Given the description of an element on the screen output the (x, y) to click on. 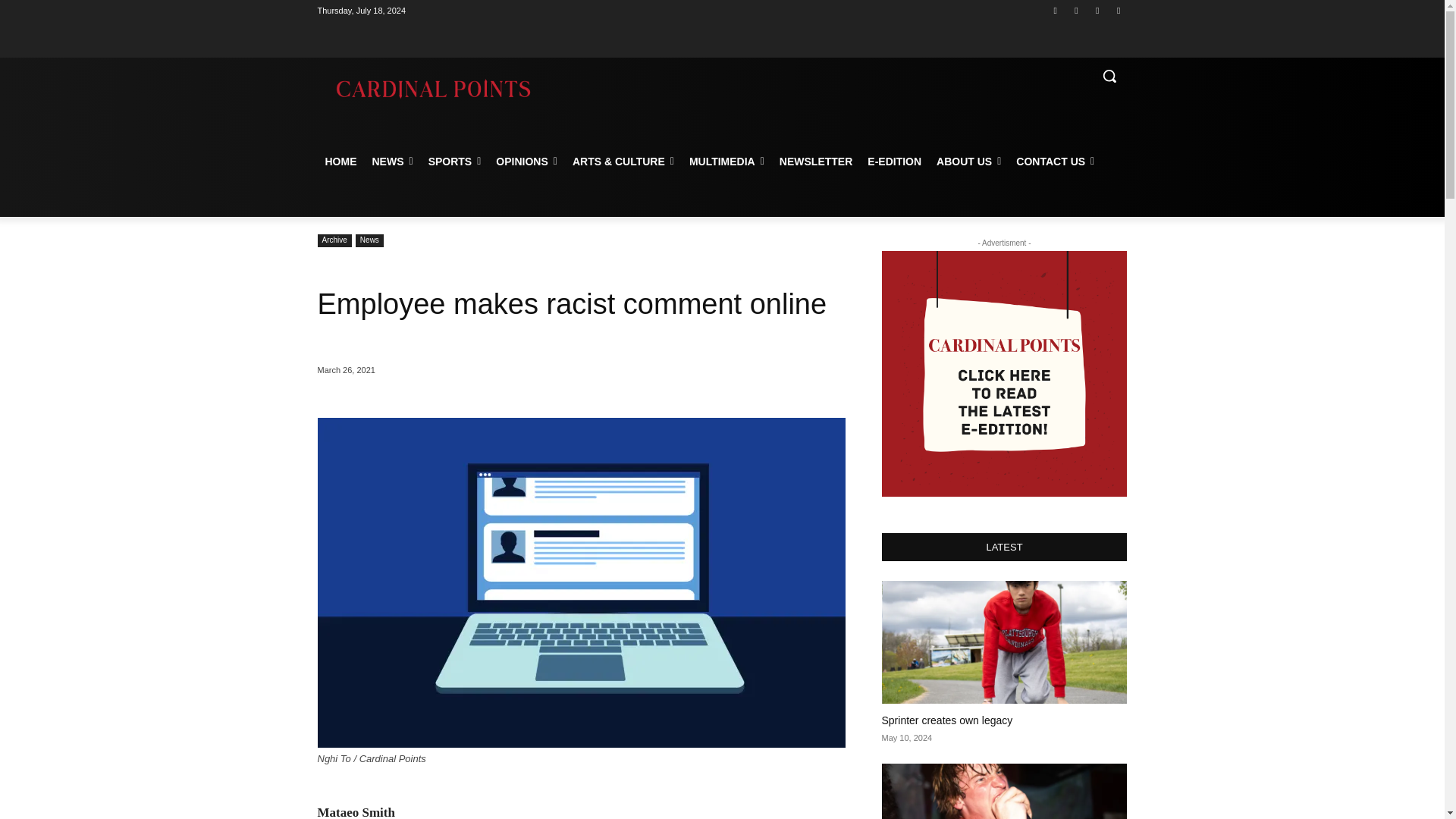
Twitter (1097, 9)
SPORTS (454, 161)
Facebook (1055, 9)
NEWS (392, 161)
HOME (340, 161)
Youtube (1117, 9)
Instagram (1075, 9)
